Given the description of an element on the screen output the (x, y) to click on. 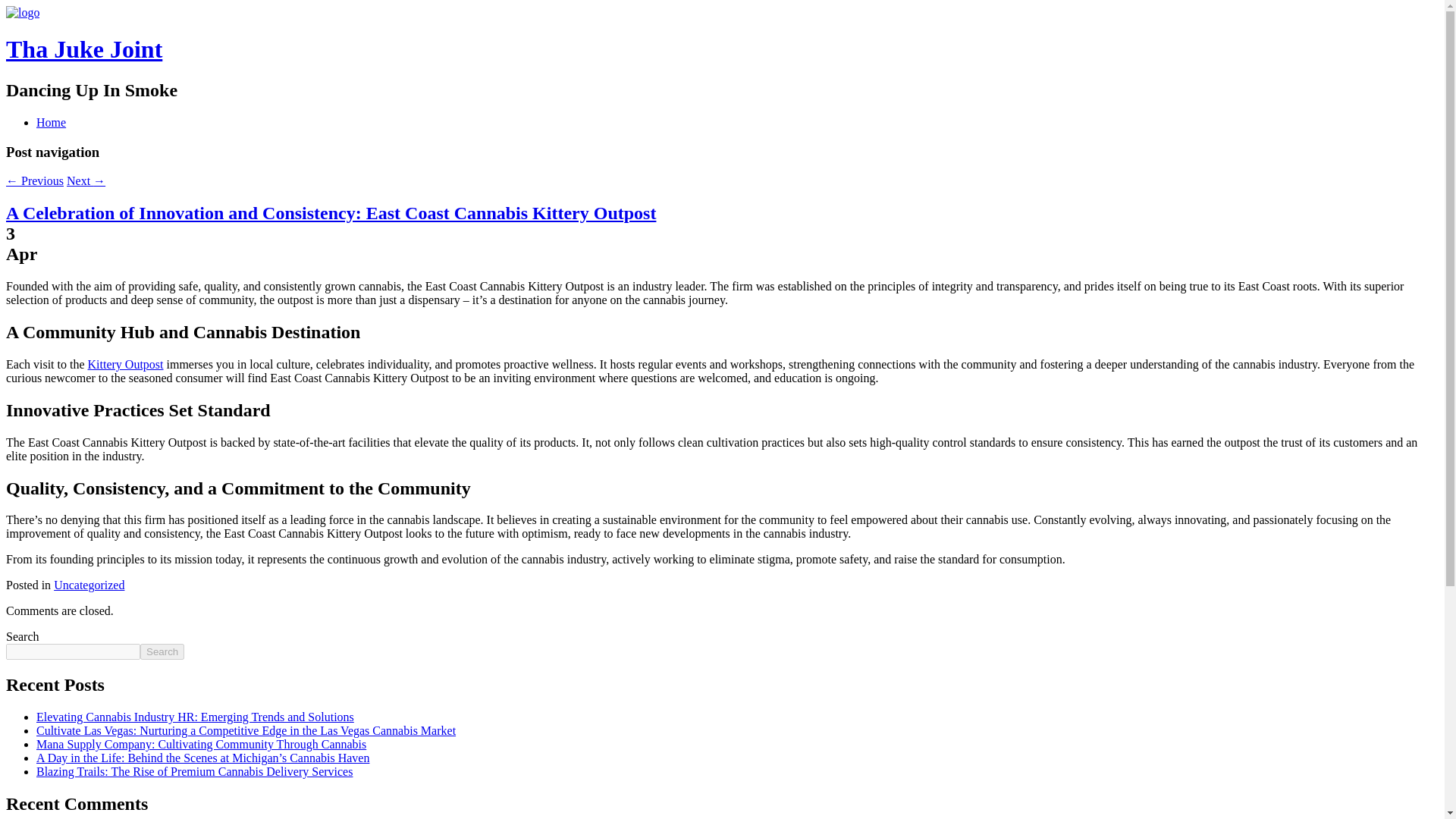
Tha Juke Joint (22, 11)
Search (161, 651)
Home (50, 122)
Uncategorized (88, 584)
Mana Supply Company: Cultivating Community Through Cannabis (201, 744)
Kittery Outpost (125, 364)
Tha Juke Joint (83, 49)
